Given the description of an element on the screen output the (x, y) to click on. 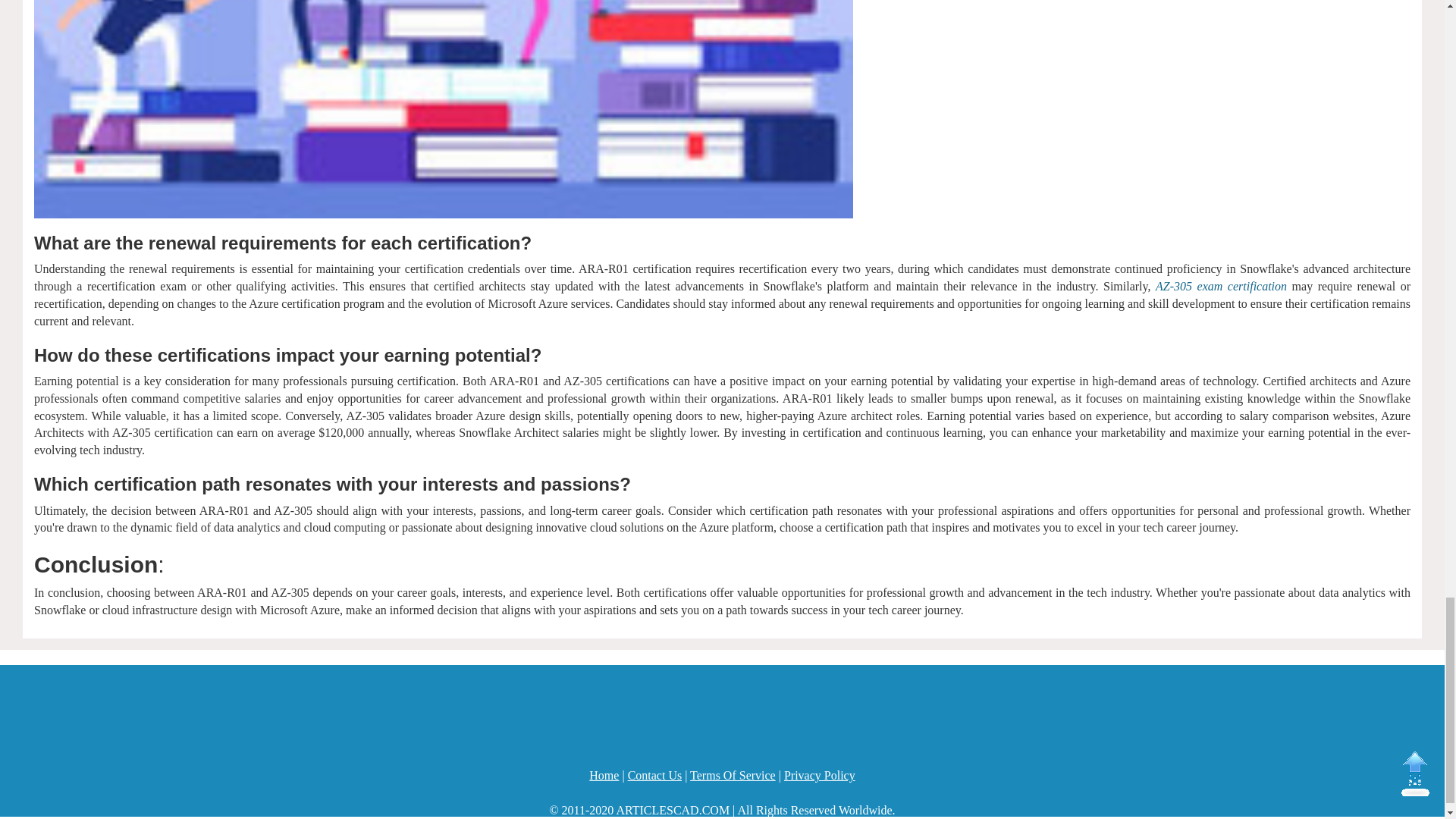
Home (603, 775)
Contact Us (654, 775)
Privacy Policy (820, 775)
AZ-305 exam certification (1221, 286)
Terms Of Service (733, 775)
